Given the description of an element on the screen output the (x, y) to click on. 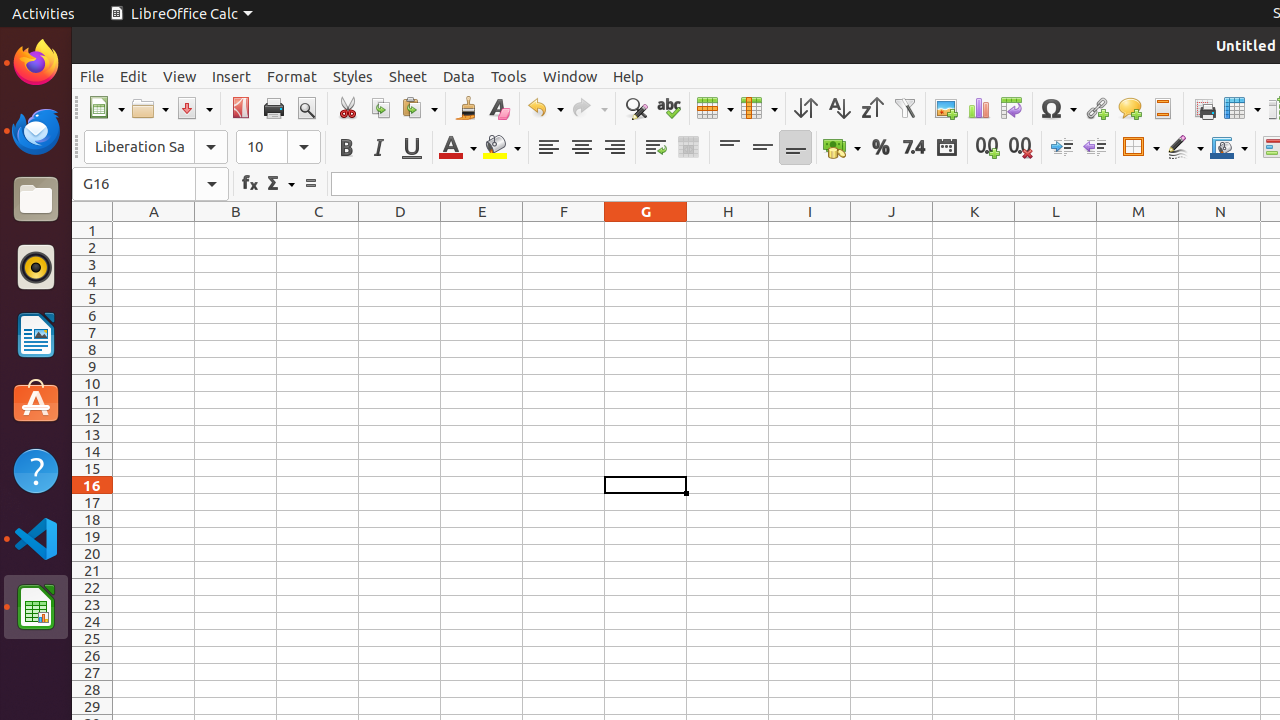
Rhythmbox Element type: push-button (36, 267)
LibreOffice Writer Element type: push-button (36, 334)
Insert Element type: menu (231, 76)
Bold Element type: toggle-button (345, 147)
Hyperlink Element type: toggle-button (1096, 108)
